Given the description of an element on the screen output the (x, y) to click on. 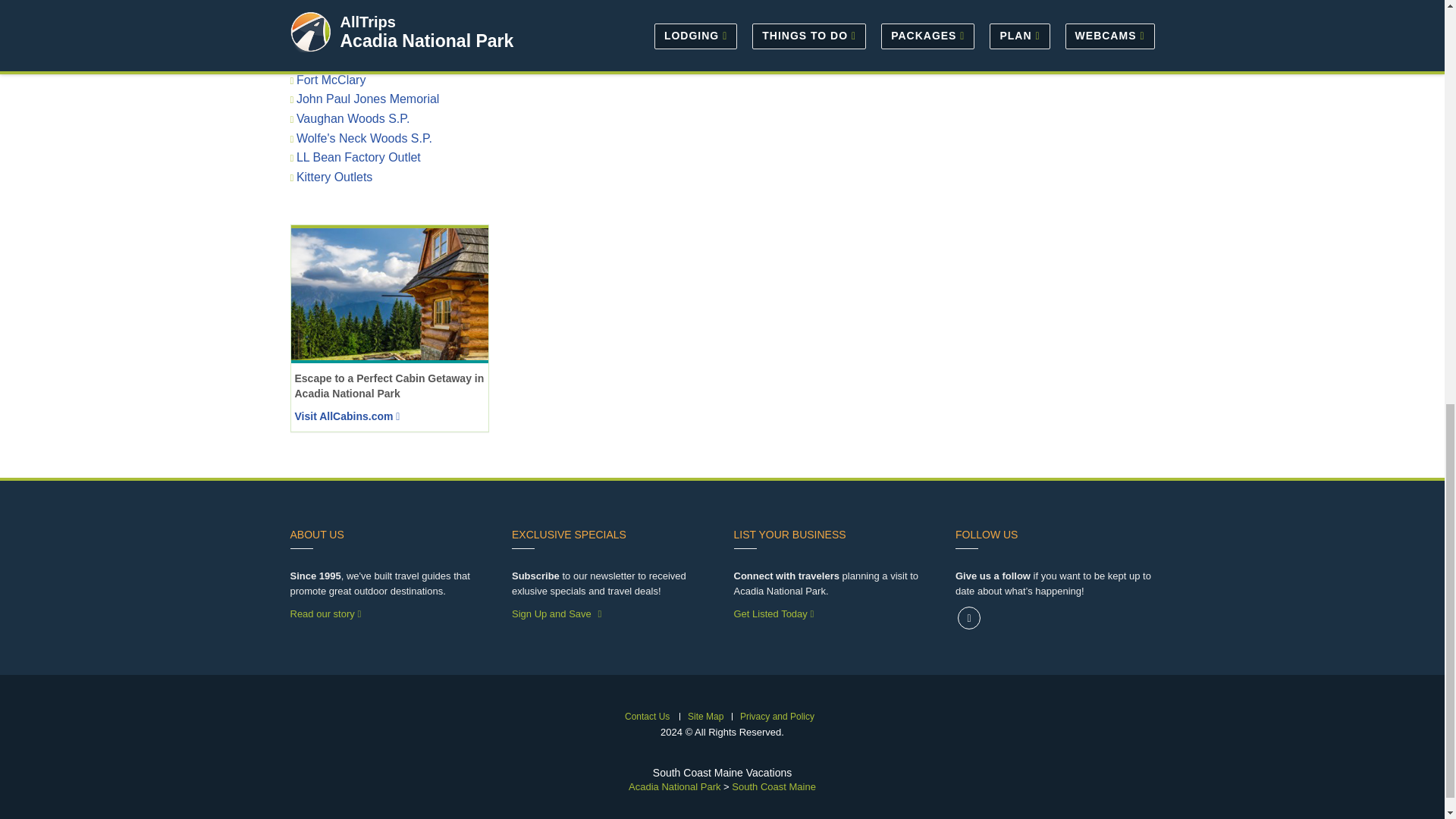
South Coast Maine (773, 786)
Acadia National Park (674, 786)
